Given the description of an element on the screen output the (x, y) to click on. 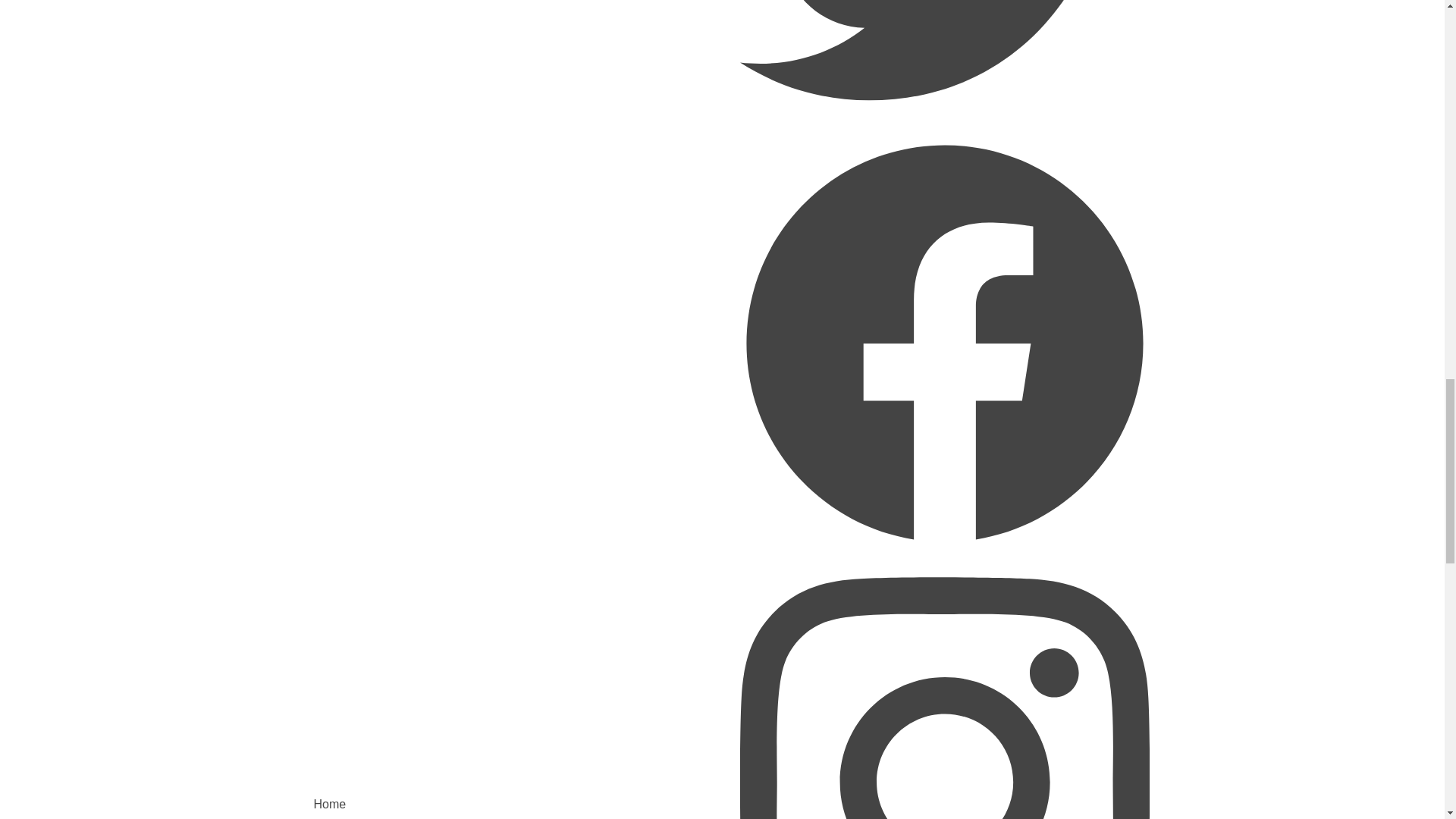
Home (329, 804)
